Given the description of an element on the screen output the (x, y) to click on. 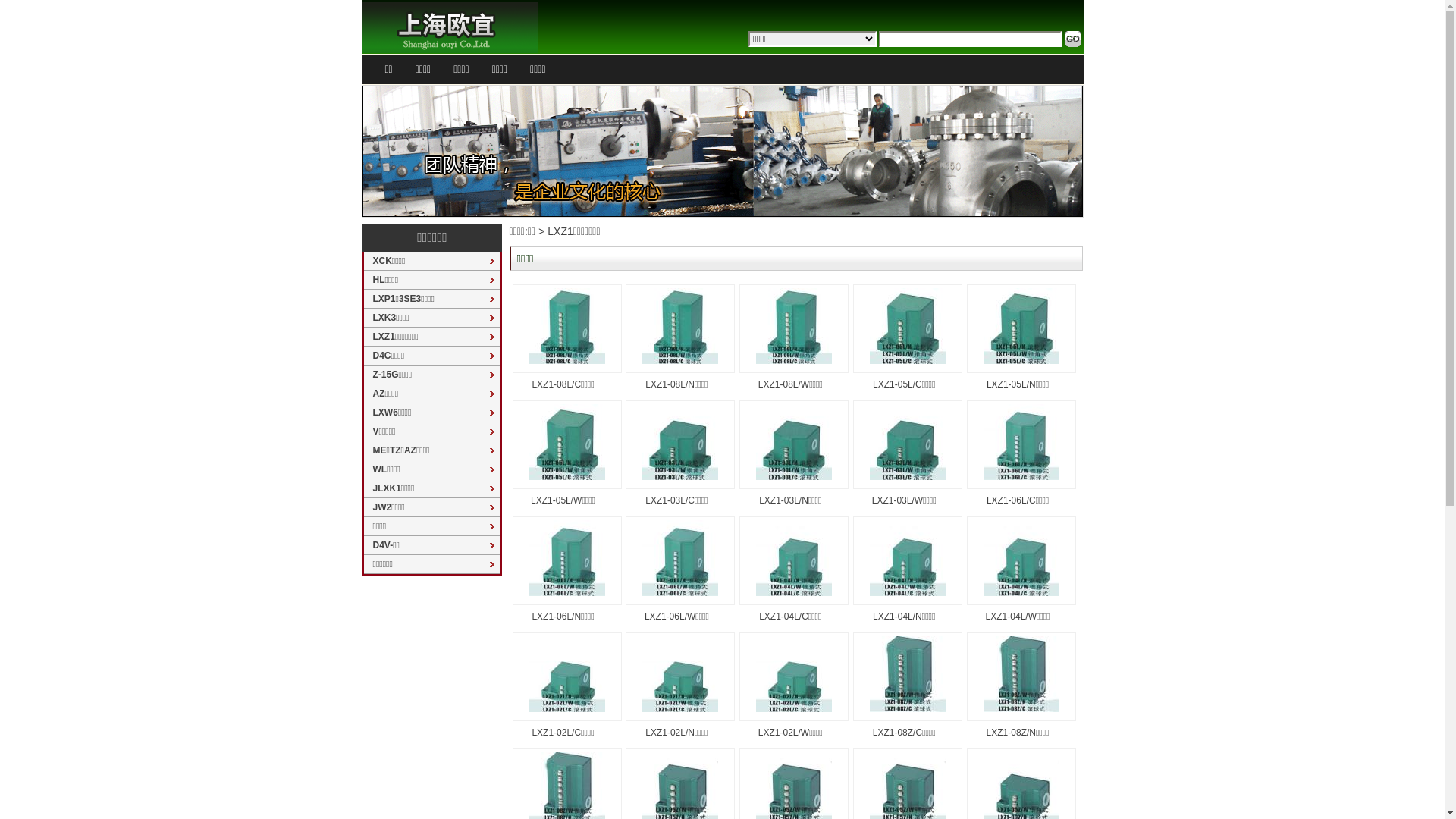
  Element type: text (1073, 38)
